Given the description of an element on the screen output the (x, y) to click on. 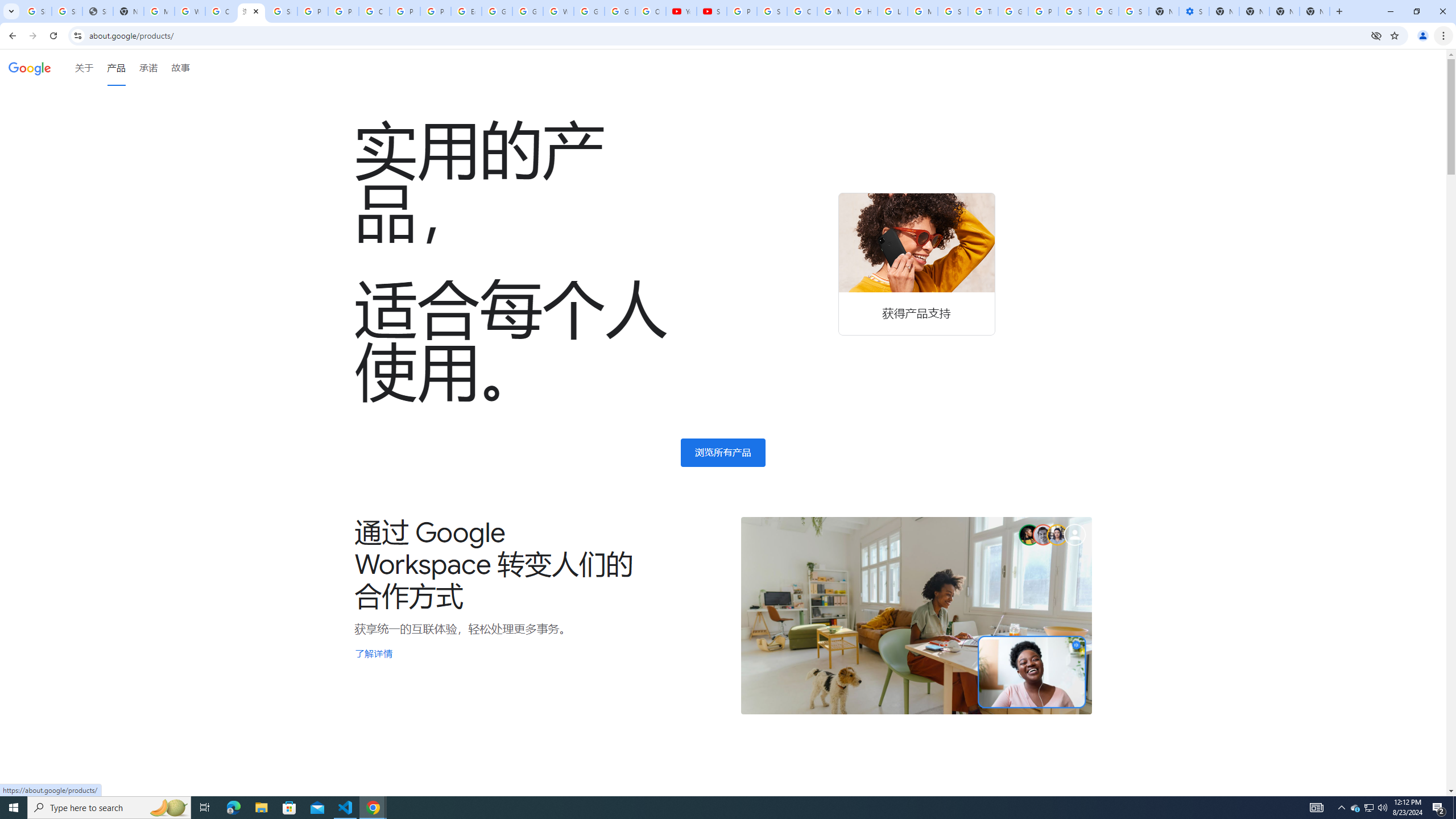
Sign in - Google Accounts (1072, 11)
Sign in - Google Accounts (1133, 11)
Google Slides: Sign-in (496, 11)
